Given the description of an element on the screen output the (x, y) to click on. 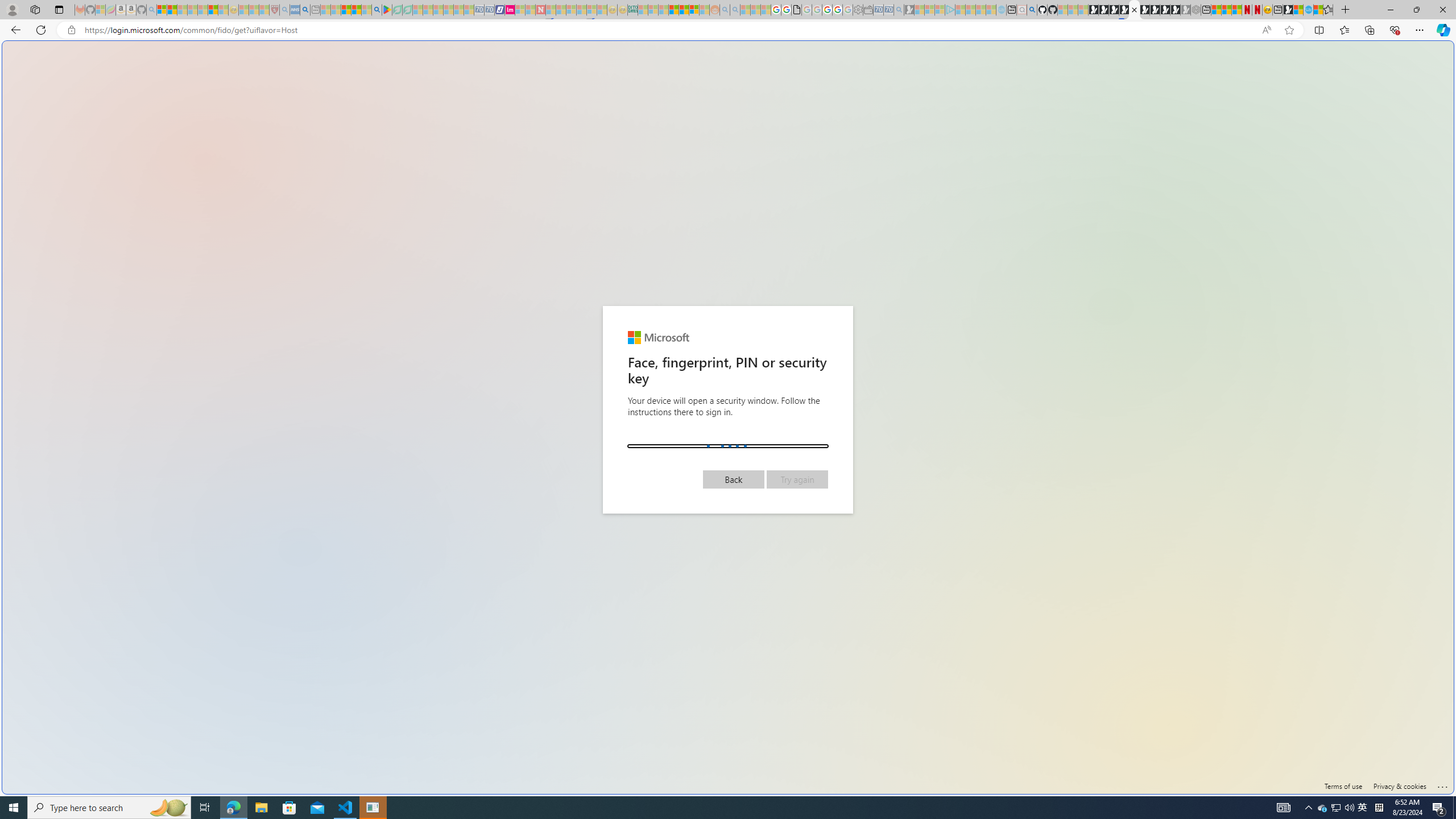
Robert H. Shmerling, MD - Harvard Health - Sleeping (273, 9)
